Given the description of an element on the screen output the (x, y) to click on. 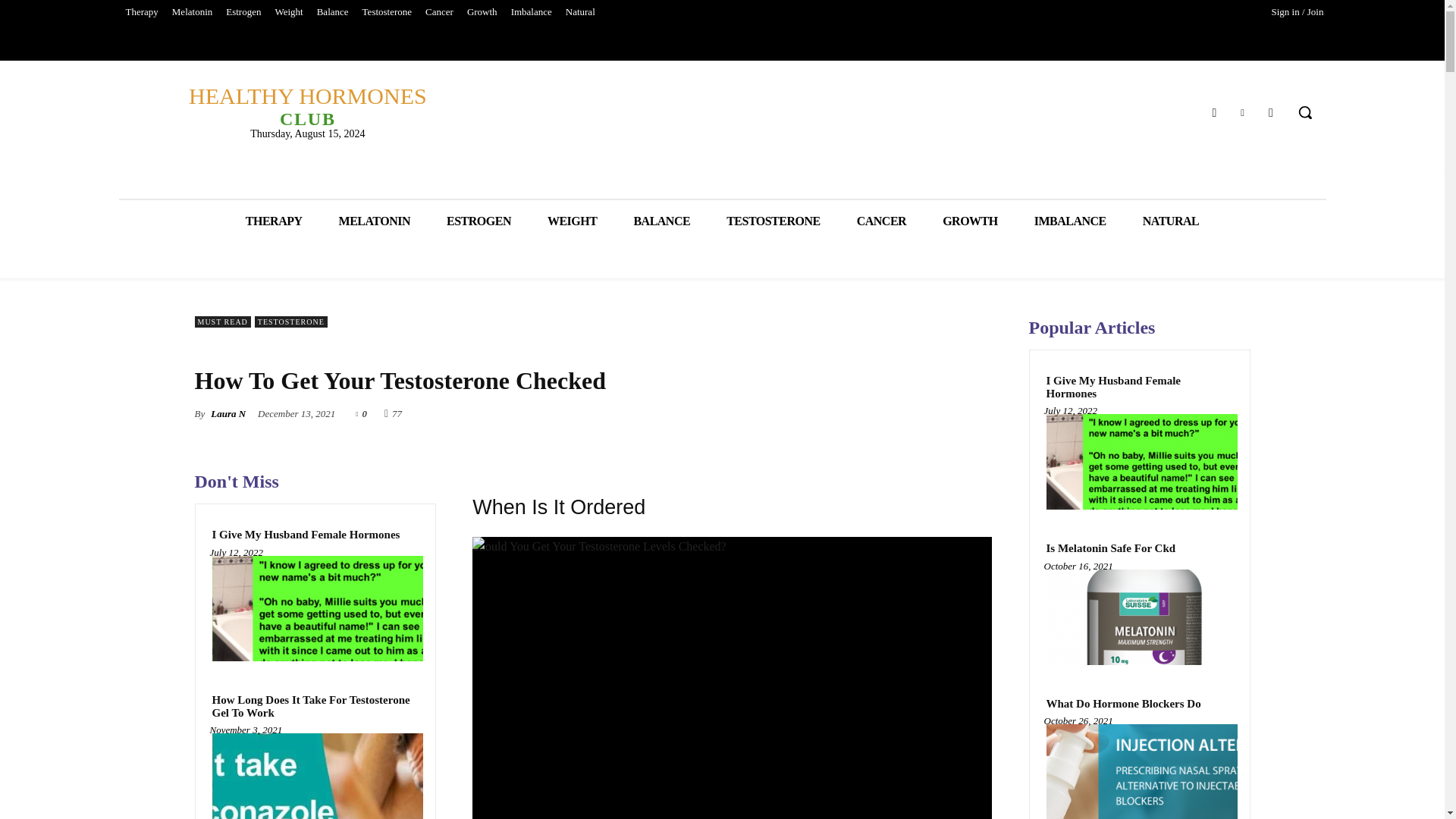
Testosterone (387, 12)
Balance (332, 12)
Twitter (1241, 111)
Melatonin (192, 12)
Therapy (140, 12)
Estrogen (243, 12)
Imbalance (531, 12)
Weight (287, 12)
How Long Does It Take For Testosterone Gel To Work (314, 706)
Growth (481, 12)
